Given the description of an element on the screen output the (x, y) to click on. 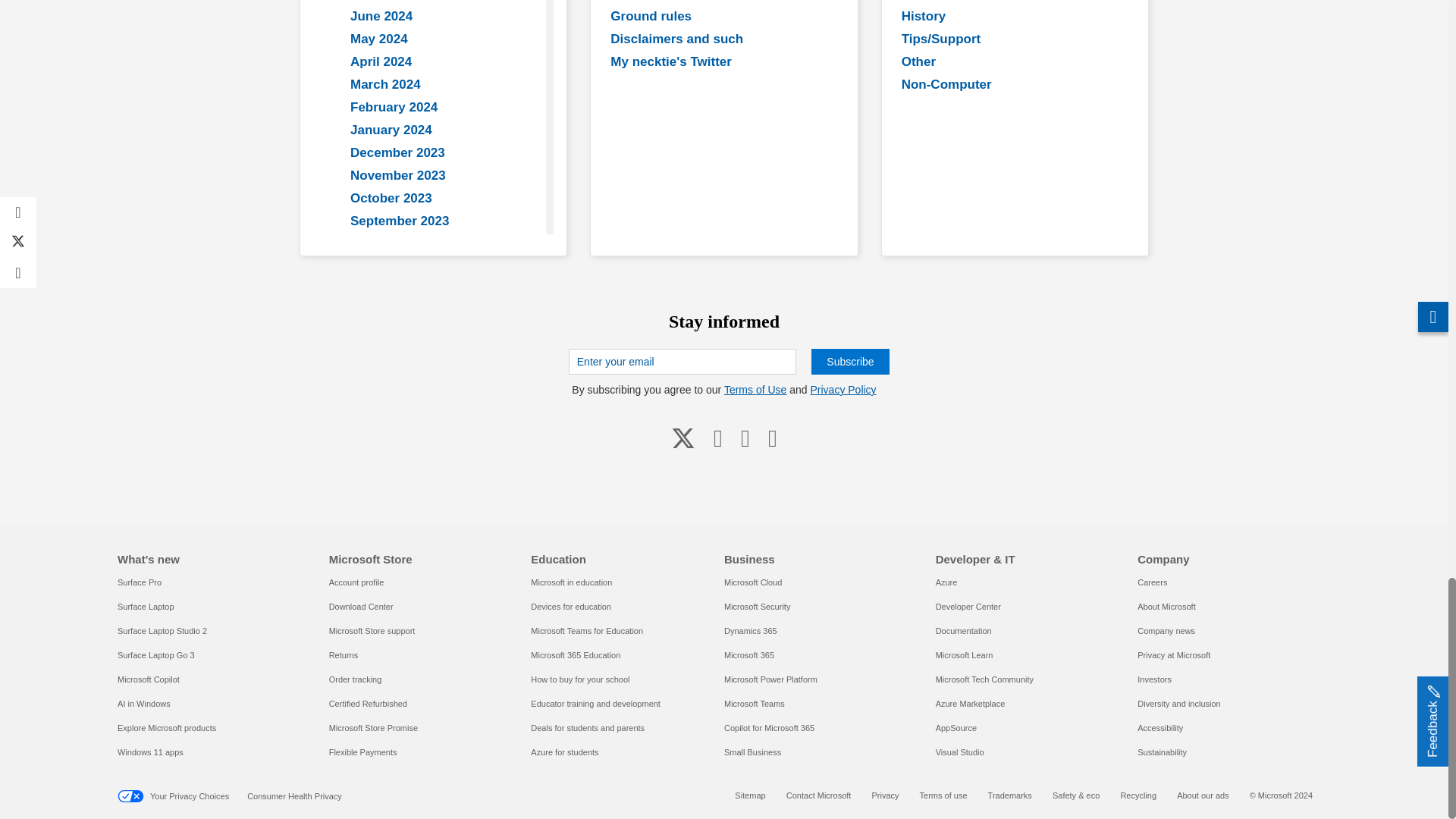
GitHub (745, 436)
youtube (718, 436)
RSS Feed (772, 436)
Subscribe (849, 361)
twitter (683, 436)
